Given the description of an element on the screen output the (x, y) to click on. 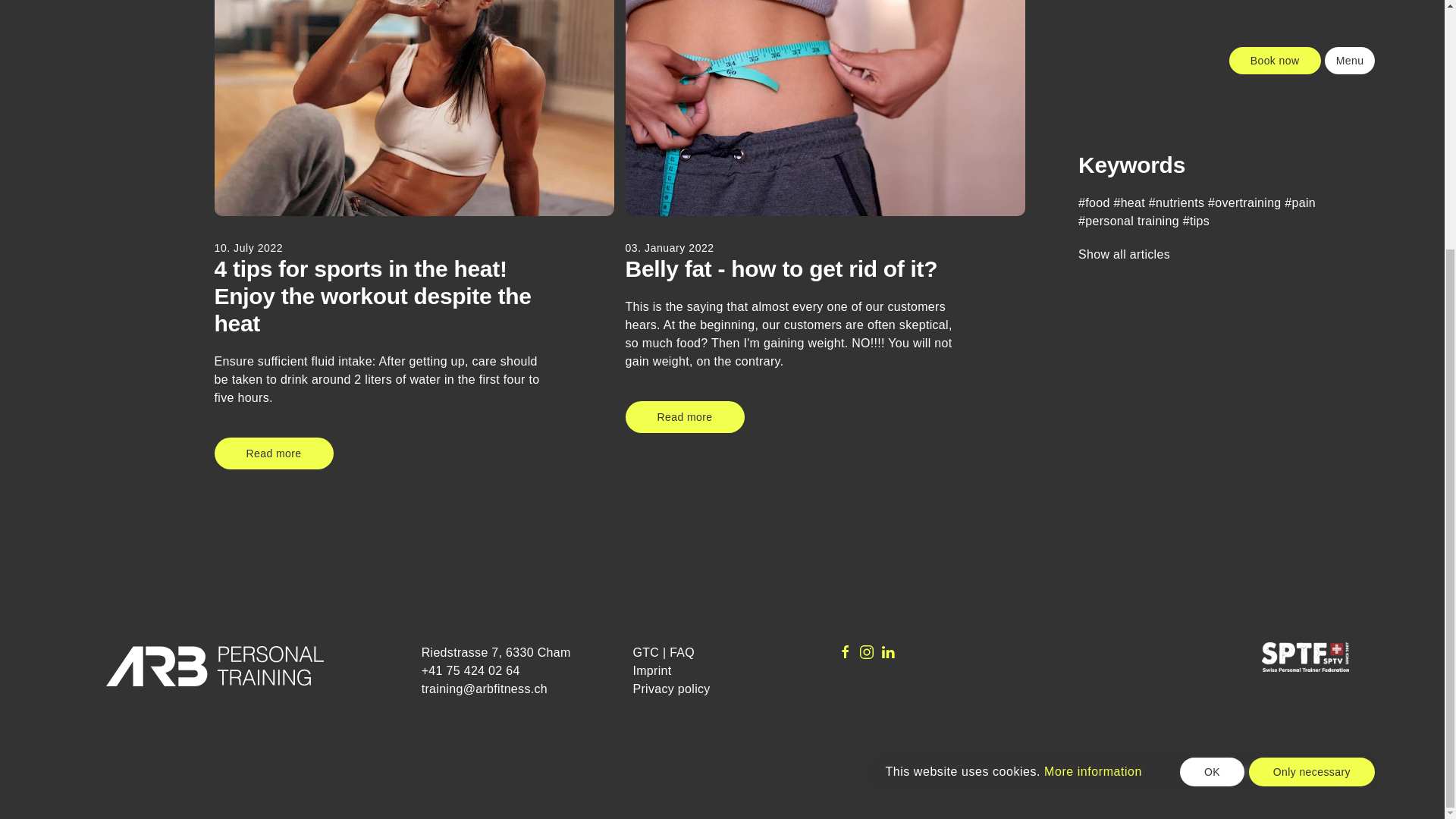
FAQ (681, 652)
Only necessary (1311, 421)
GTC (645, 652)
OK (1211, 421)
personal training (1128, 34)
Read more (685, 417)
Show all articles (1124, 68)
tips (1195, 34)
Read more (273, 453)
pain (1300, 16)
Privacy policy (670, 688)
Imprint (651, 670)
overtraining (1244, 16)
heat (1128, 16)
More information (1092, 421)
